Given the description of an element on the screen output the (x, y) to click on. 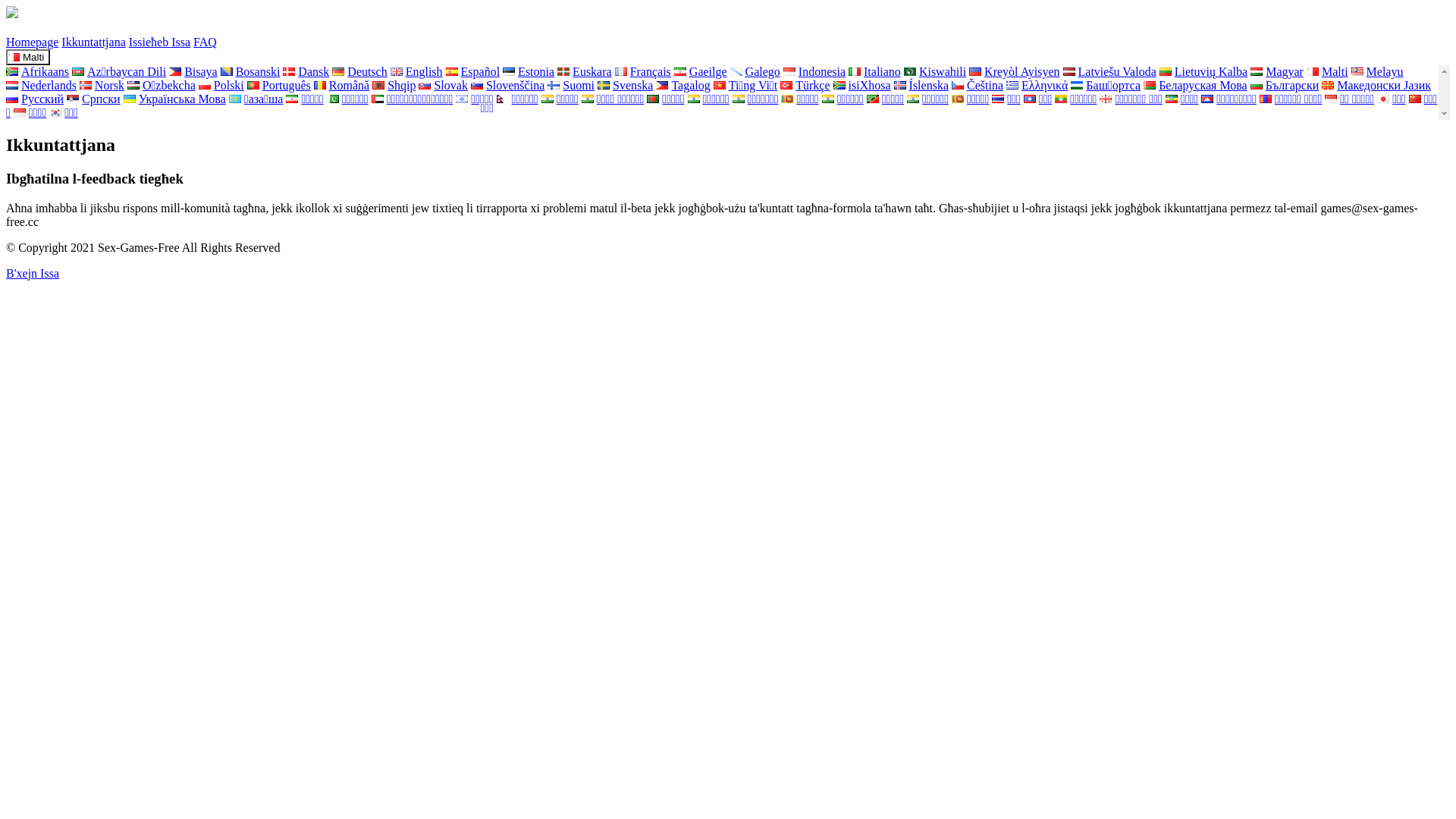
isiXhosa Element type: text (862, 84)
Tagalog Element type: text (682, 84)
English Element type: text (416, 71)
FAQ Element type: text (204, 41)
Shqip Element type: text (393, 84)
Polski Element type: text (221, 84)
Slovak Element type: text (442, 84)
Svenska Element type: text (624, 84)
Malti Element type: text (28, 57)
Deutsch Element type: text (359, 71)
Magyar Element type: text (1276, 71)
Melayu Element type: text (1377, 71)
Estonia Element type: text (528, 71)
Euskara Element type: text (584, 71)
Malti Element type: text (1327, 71)
Norsk Element type: text (101, 84)
Dansk Element type: text (305, 71)
Suomi Element type: text (570, 84)
B'xejn Issa Element type: text (32, 273)
Galego Element type: text (755, 71)
Gaeilge Element type: text (700, 71)
Afrikaans Element type: text (37, 71)
Indonesia Element type: text (814, 71)
Bisaya Element type: text (193, 71)
Bosanski Element type: text (250, 71)
Kiswahili Element type: text (934, 71)
Nederlands Element type: text (41, 84)
Ikkuntattjana Element type: text (93, 41)
Homepage Element type: text (32, 41)
Italiano Element type: text (874, 71)
